Given the description of an element on the screen output the (x, y) to click on. 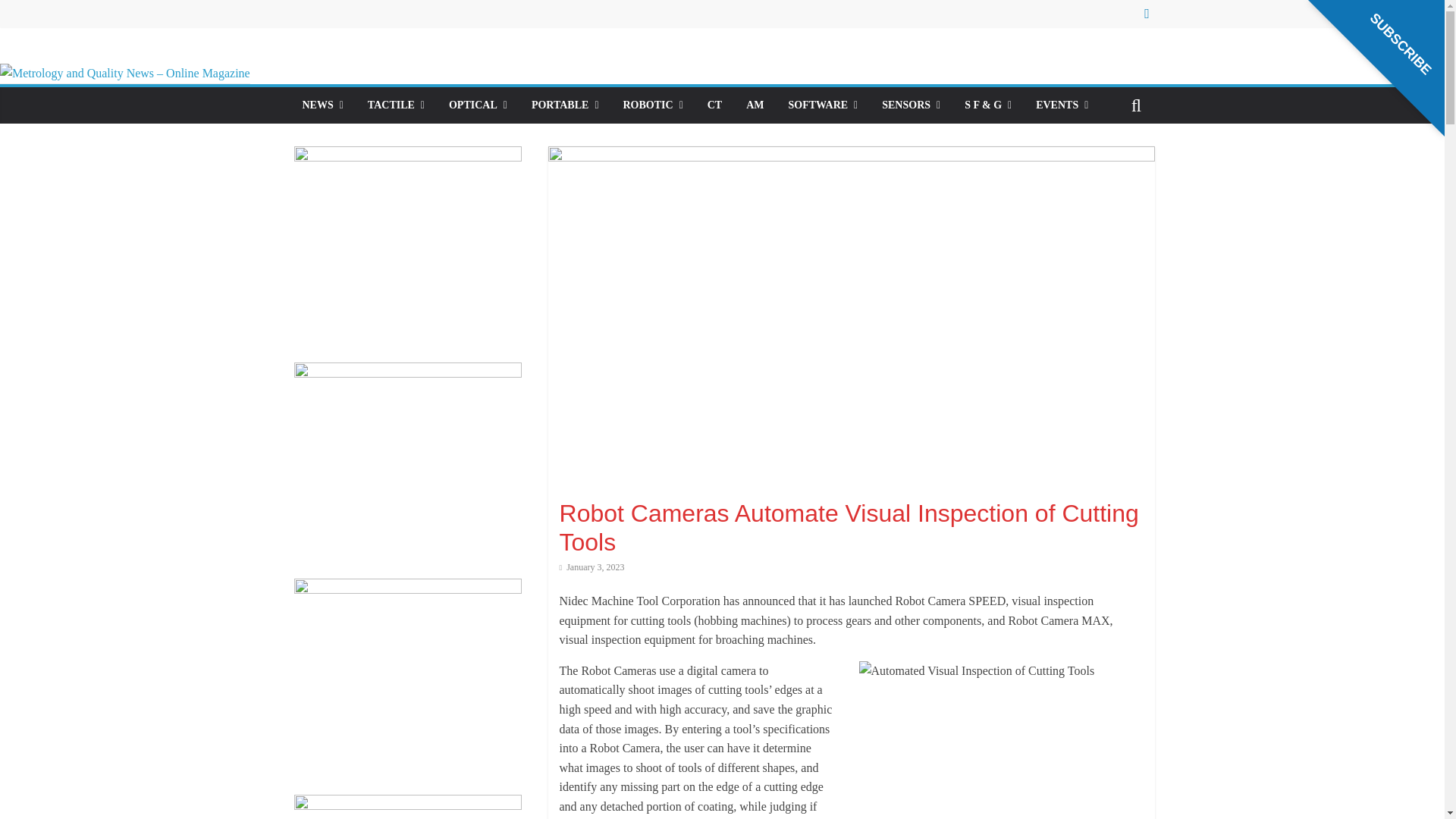
CT (714, 104)
OPTICAL (477, 104)
TACTILE (395, 104)
ROBOTIC (653, 104)
PORTABLE (565, 104)
AM (754, 104)
6:00 am (591, 566)
NEWS (322, 104)
